Given the description of an element on the screen output the (x, y) to click on. 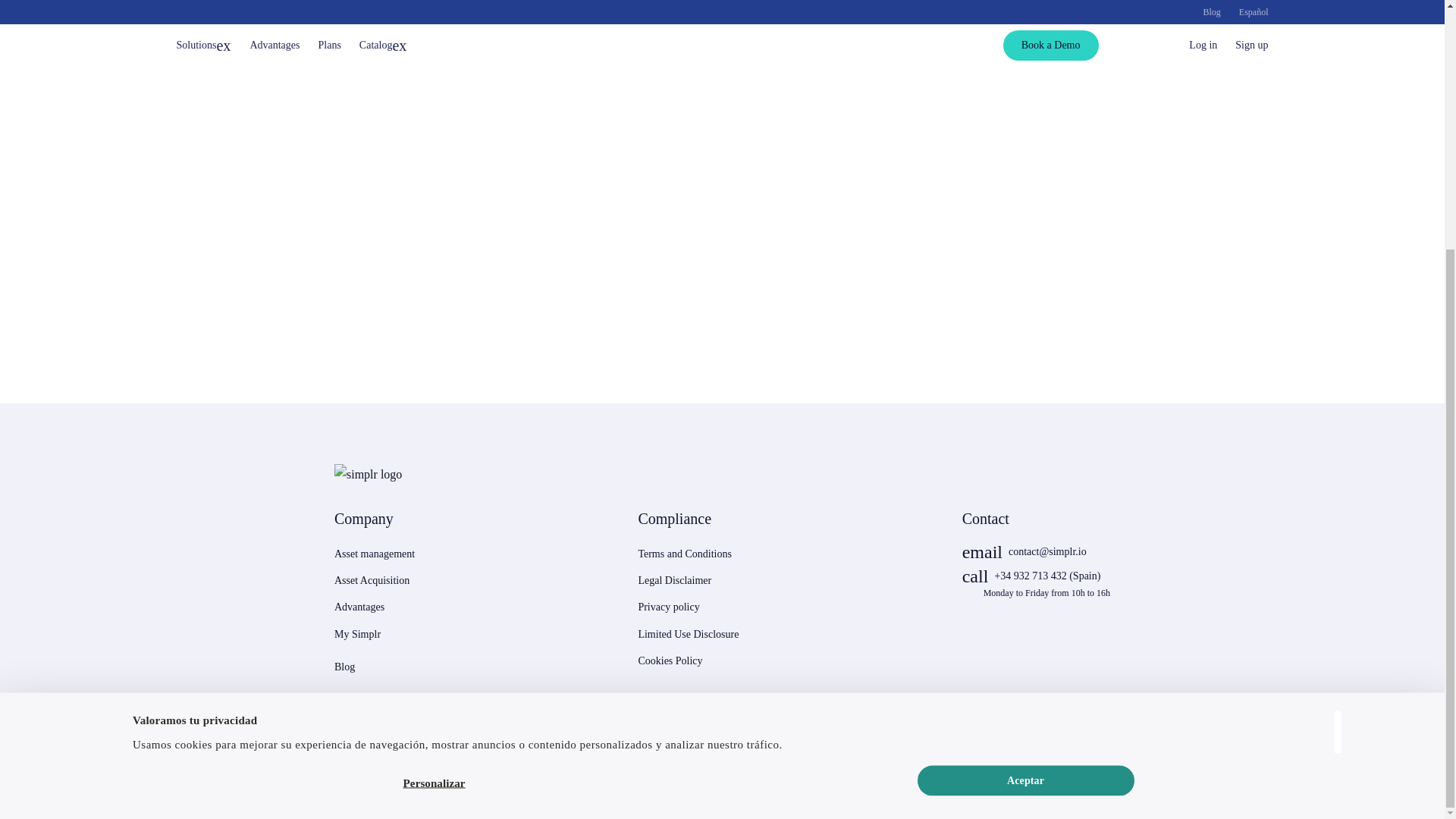
Personalizar (434, 433)
